Given the description of an element on the screen output the (x, y) to click on. 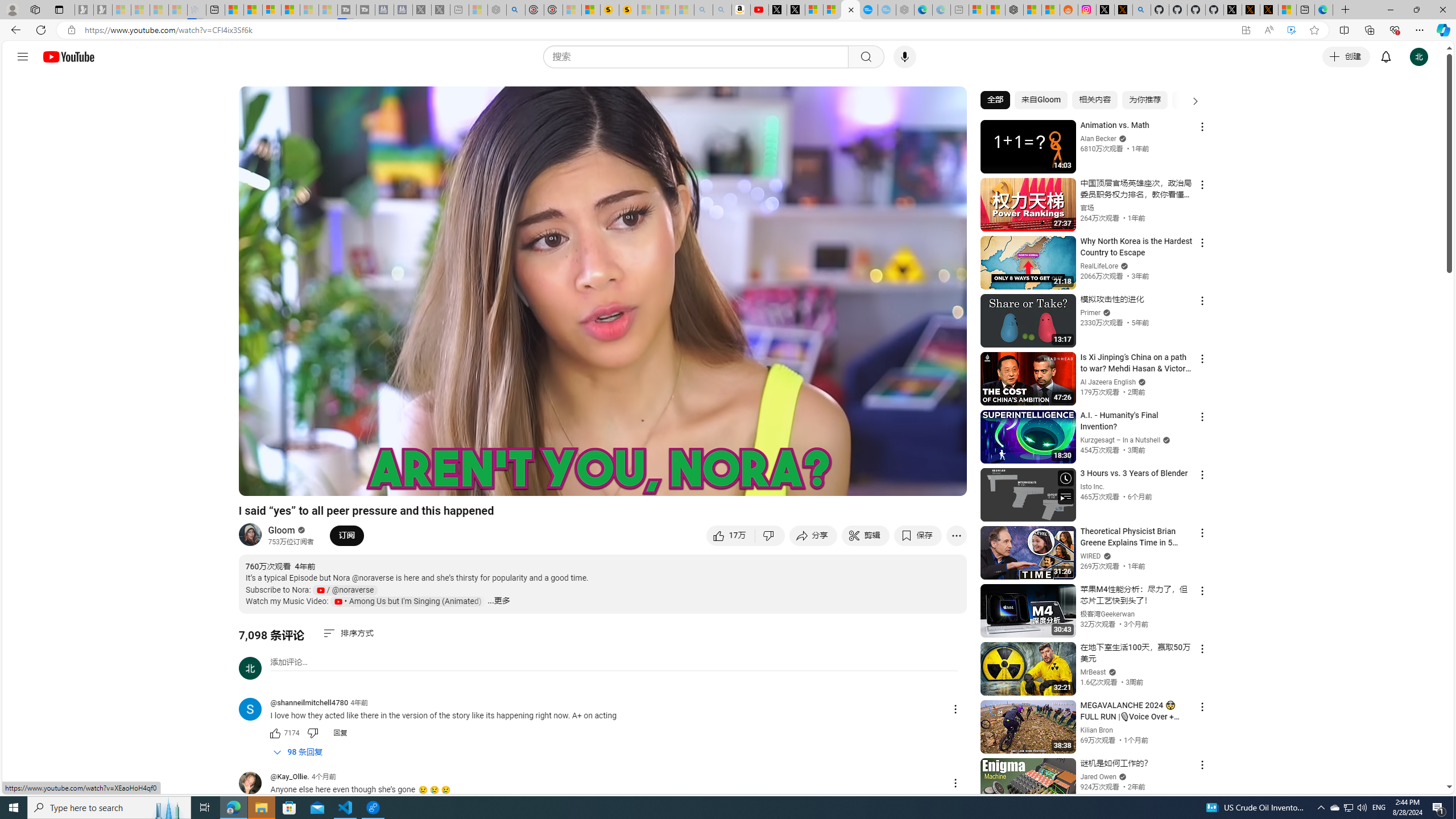
Minimize (1390, 9)
Back (13, 29)
@shanneilmitchell4780 (308, 703)
Amazon Echo Dot PNG - Search Images - Sleeping (721, 9)
View site information (70, 29)
Tab actions menu (58, 9)
Add this page to favorites (Ctrl+D) (1314, 29)
